Given the description of an element on the screen output the (x, y) to click on. 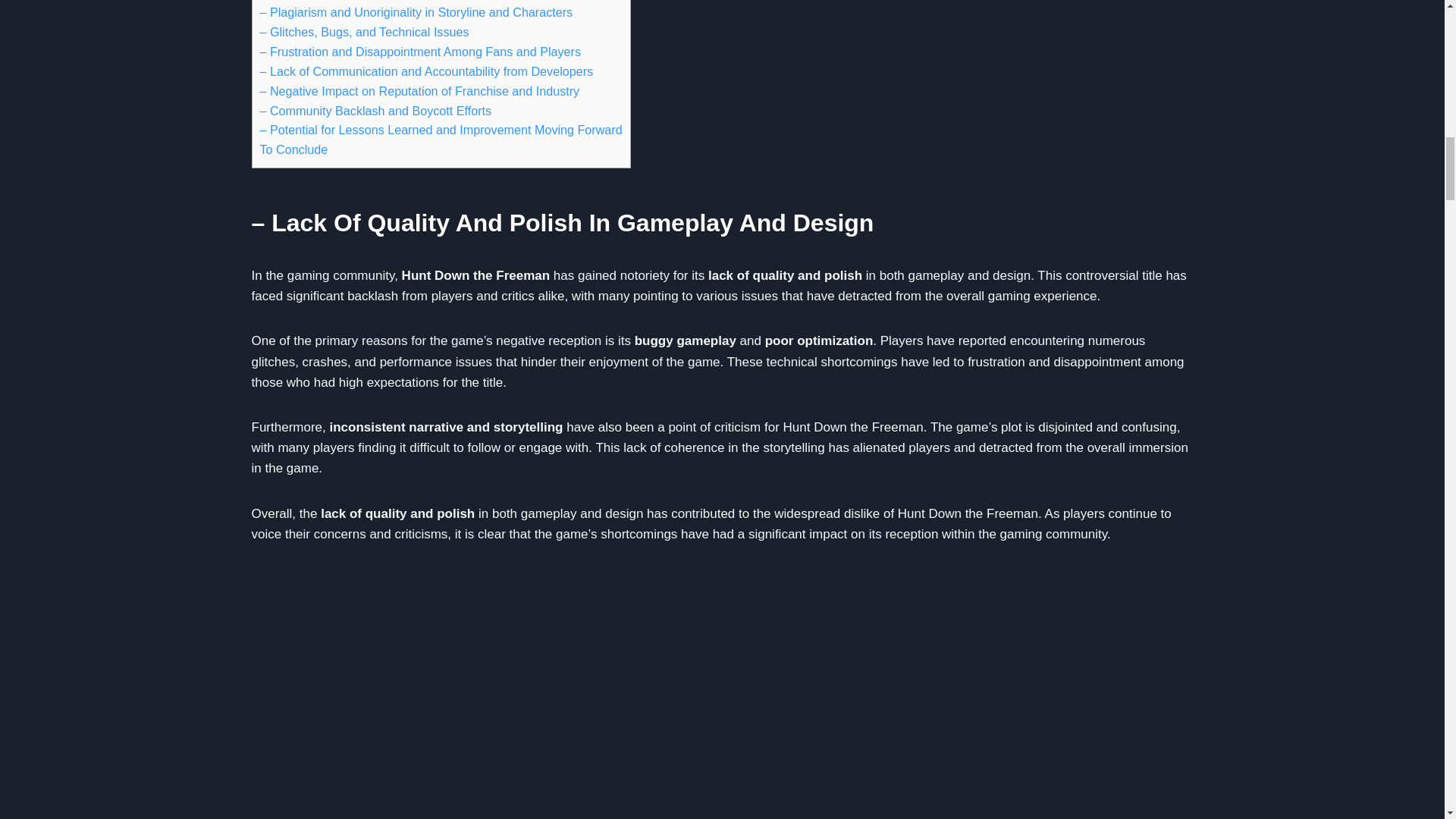
To Conclude (293, 149)
